Given the description of an element on the screen output the (x, y) to click on. 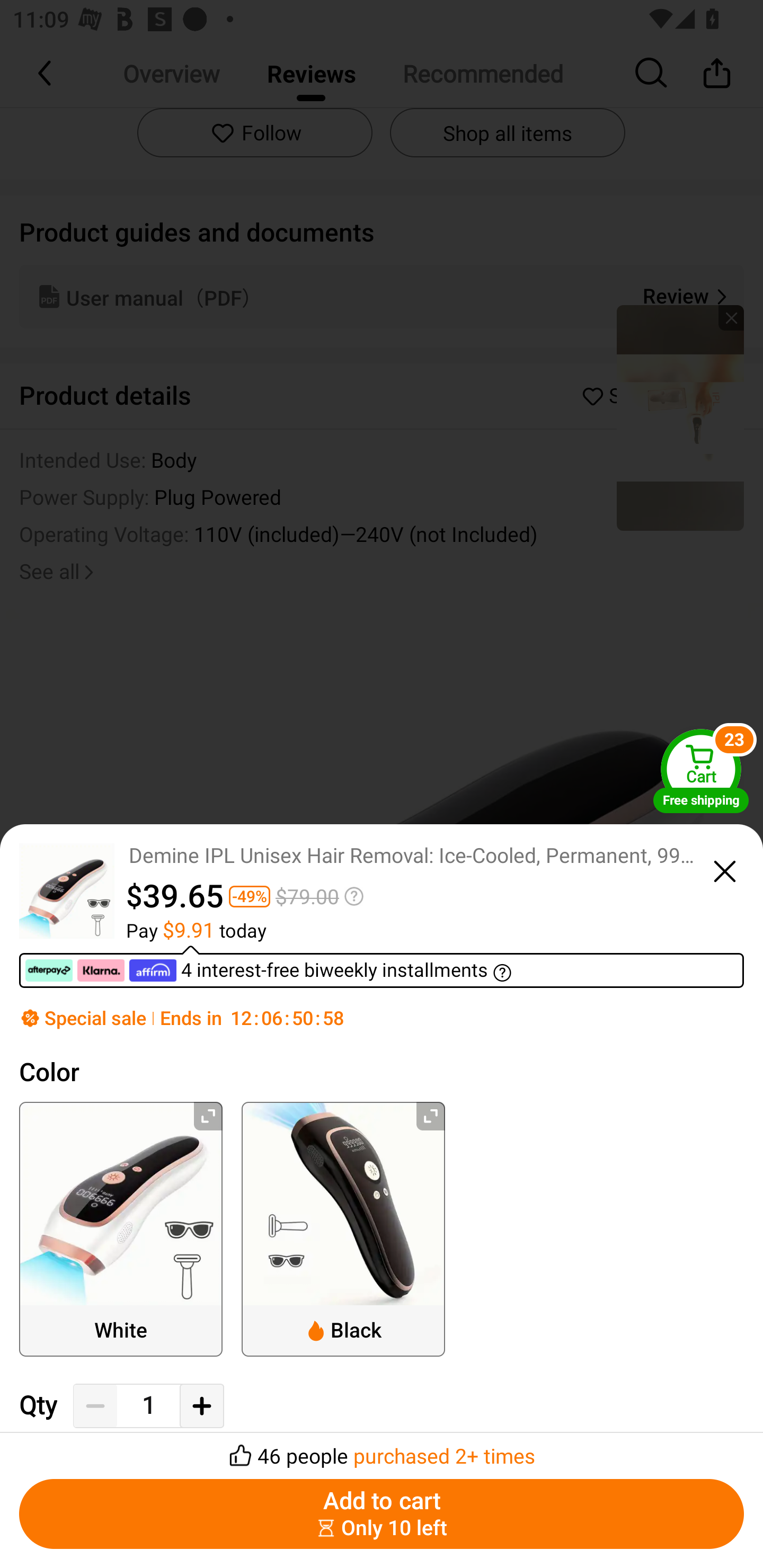
Cart Free shipping Cart (701, 770)
close (724, 868)
￼ ￼ ￼ 4 interest-free biweekly installments ￼ (381, 966)
White (120, 1229)
Black ￼Black (342, 1229)
Decrease Quantity Button (95, 1405)
Add Quantity Button (201, 1405)
1 (148, 1405)
￼￼46 people purchased 2+ times (381, 1450)
Add to cart ￼￼Only 10 left (381, 1513)
